Given the description of an element on the screen output the (x, y) to click on. 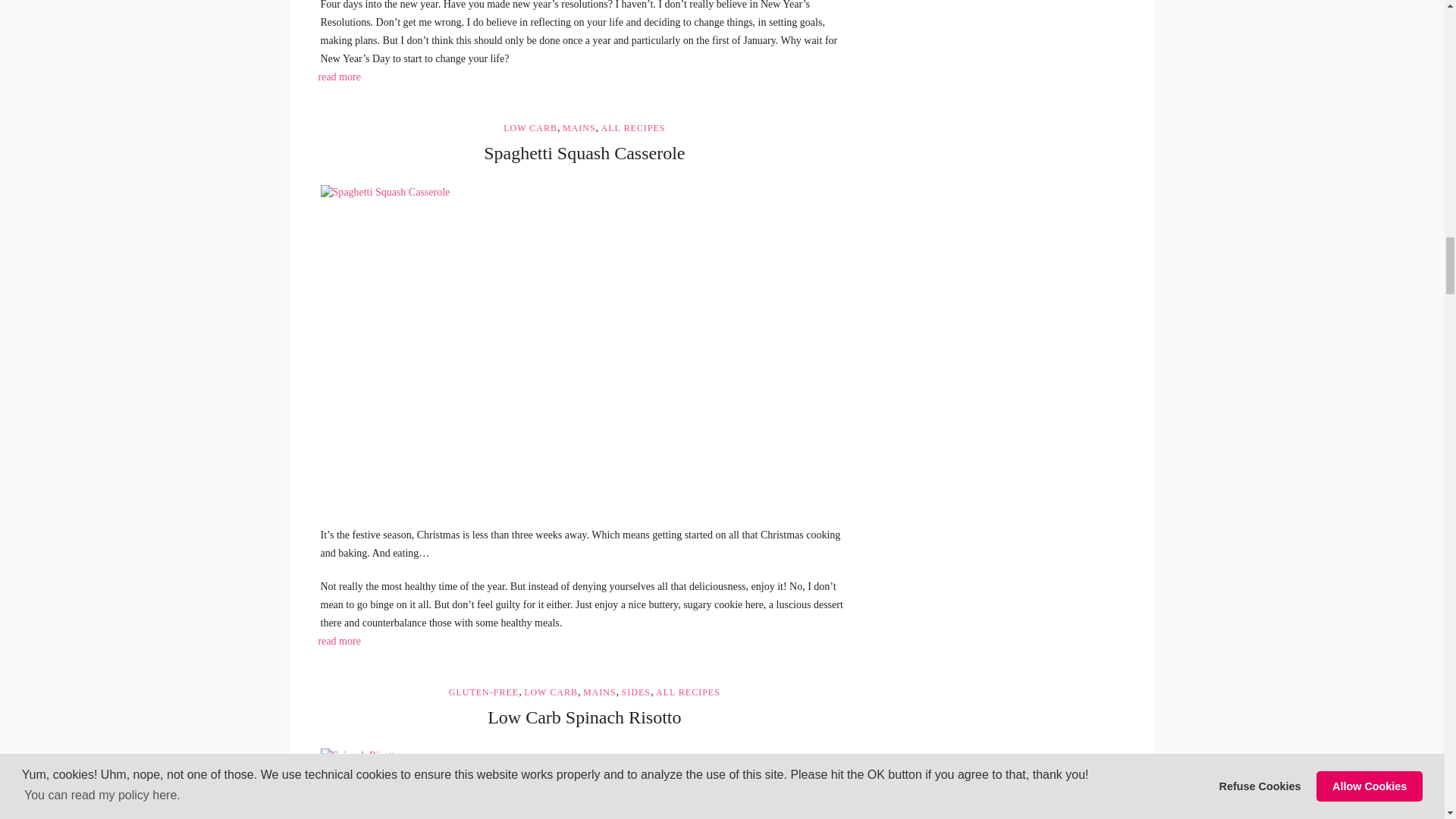
Low Carb Spinach Risotto (584, 783)
